Given the description of an element on the screen output the (x, y) to click on. 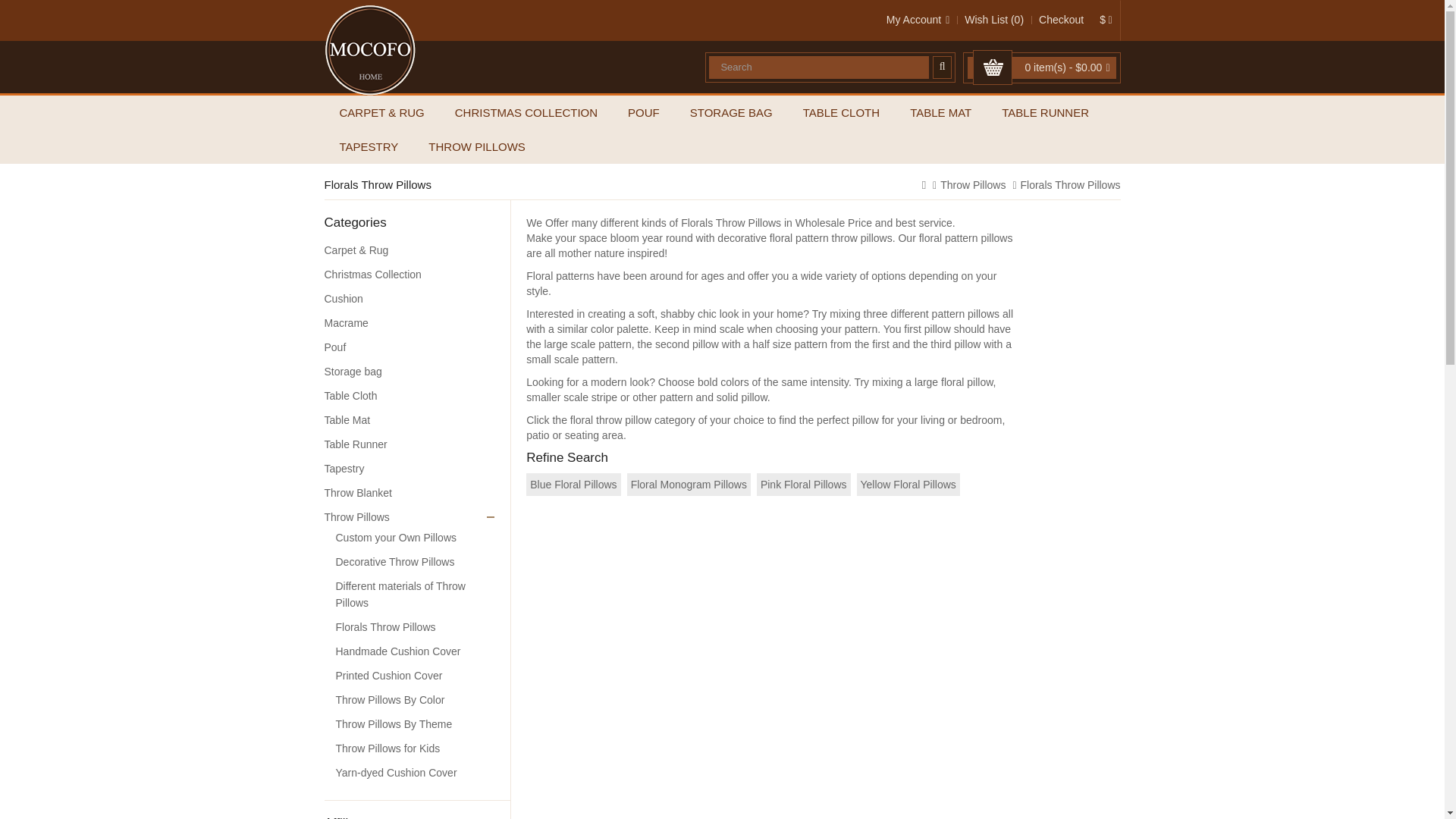
TABLE CLOTH (841, 112)
My Account (918, 19)
CHRISTMAS COLLECTION (525, 112)
TABLE MAT (940, 112)
My Account (918, 19)
POUF (643, 112)
TAPESTRY (368, 146)
Checkout (1061, 19)
Checkout (1061, 19)
